Given the description of an element on the screen output the (x, y) to click on. 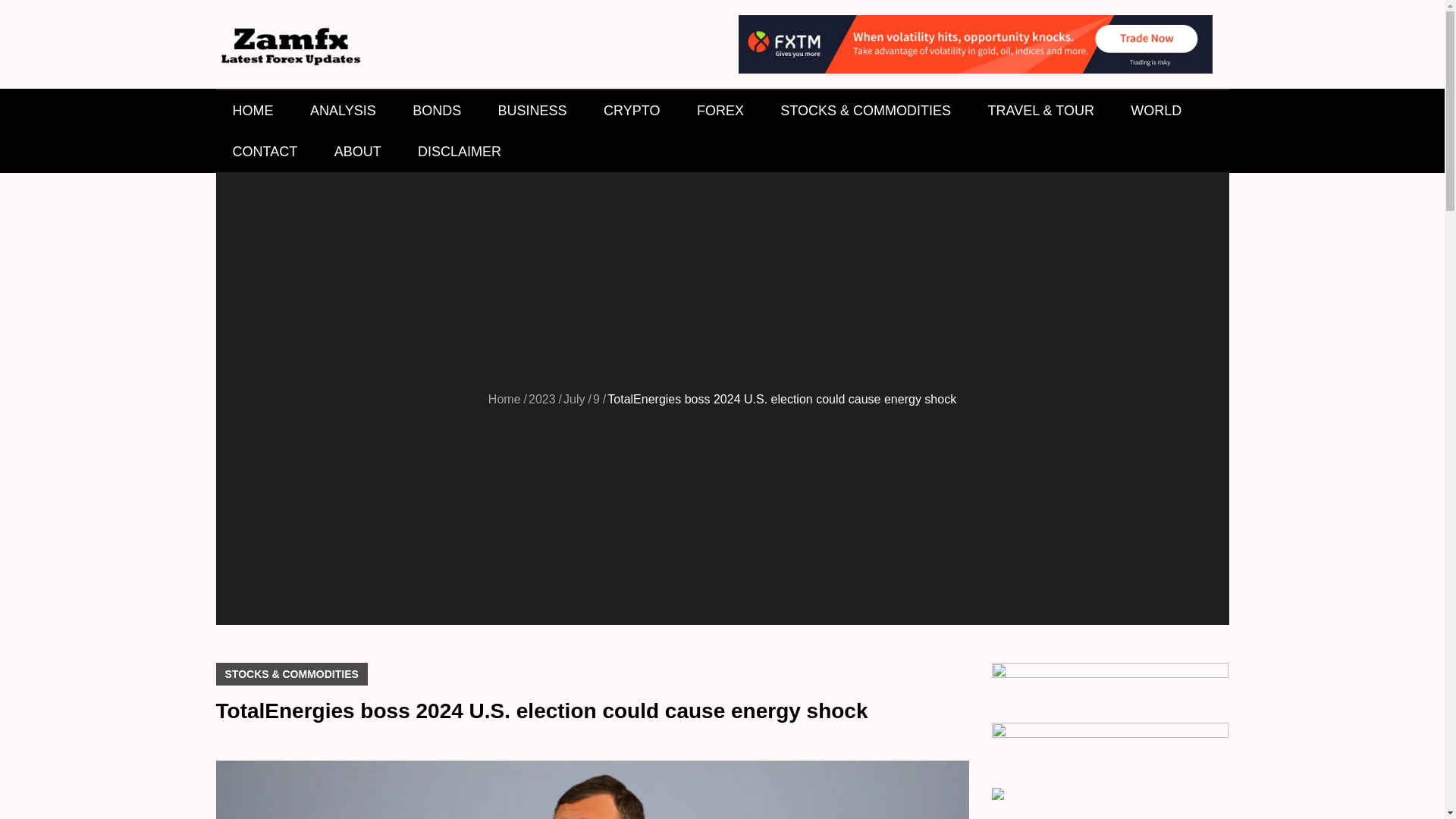
CRYPTO (631, 110)
ANALYSIS (343, 110)
FOREX (719, 110)
9 (595, 399)
ZAMFX (269, 87)
CONTACT (264, 151)
ABOUT (357, 151)
BUSINESS (532, 110)
BONDS (436, 110)
Home (504, 399)
July (574, 399)
WORLD (1155, 110)
SEARCH (1206, 151)
DISCLAIMER (459, 151)
2023 (542, 399)
